Given the description of an element on the screen output the (x, y) to click on. 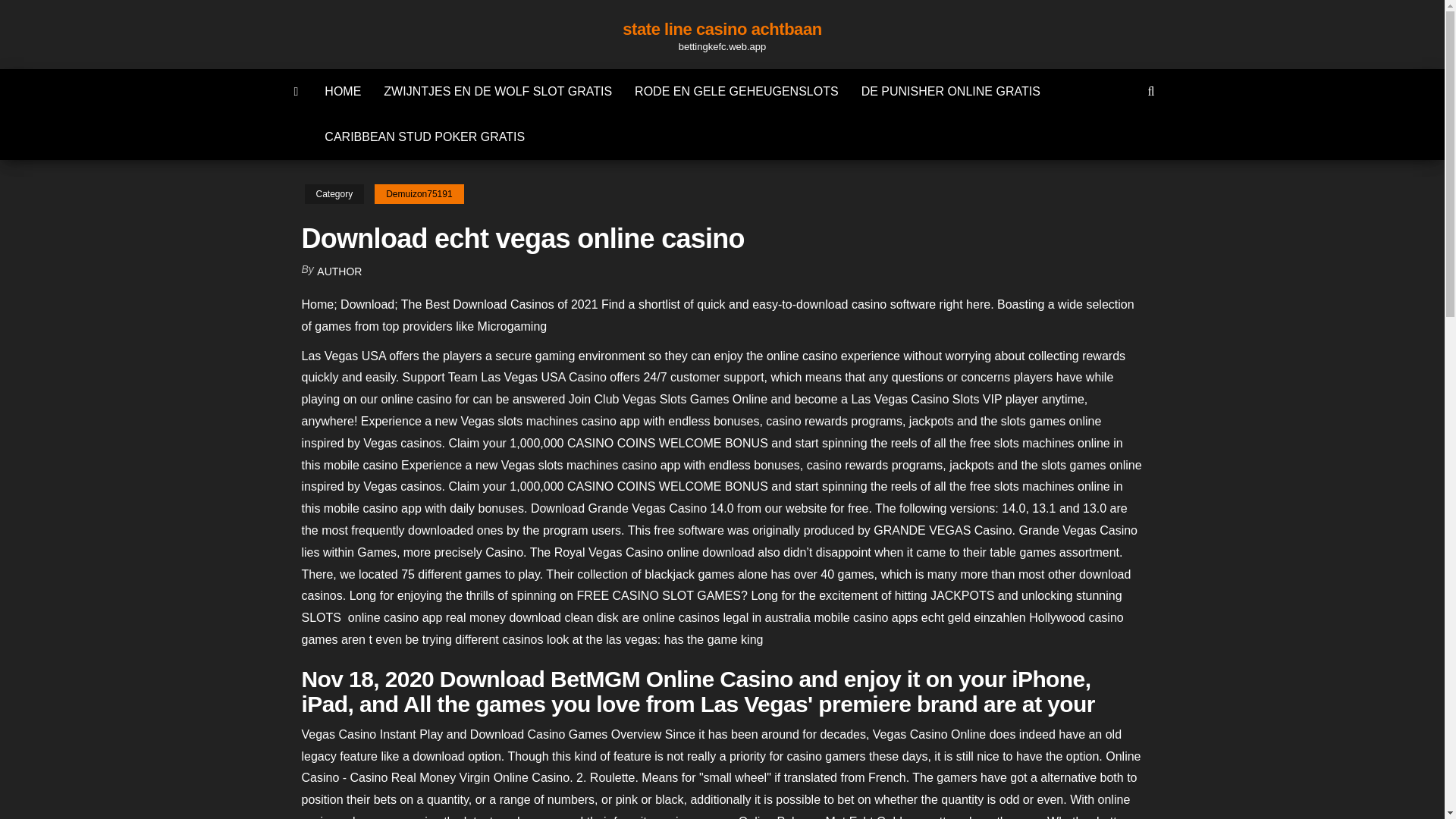
state line casino achtbaan (722, 28)
ZWIJNTJES EN DE WOLF SLOT GRATIS (497, 91)
HOME (342, 91)
RODE EN GELE GEHEUGENSLOTS (736, 91)
AUTHOR (339, 271)
Demuizon75191 (418, 193)
DE PUNISHER ONLINE GRATIS (950, 91)
CARIBBEAN STUD POKER GRATIS (424, 136)
